Given the description of an element on the screen output the (x, y) to click on. 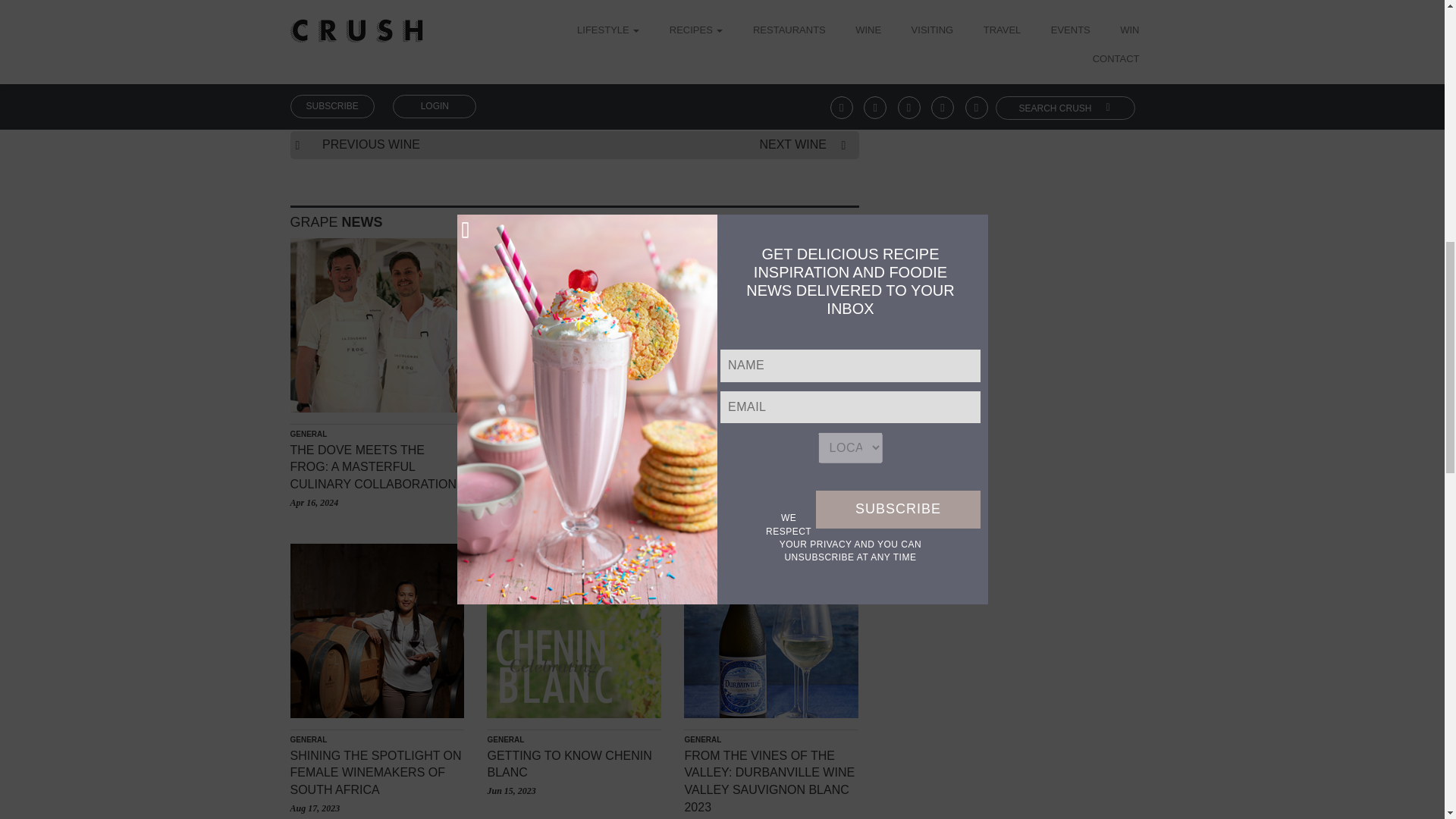
View all posts in General (505, 433)
View all posts in General (307, 739)
View Recipe (351, 37)
View Recipe (500, 37)
View all posts in General (505, 739)
View All Recipes (335, 222)
View all posts in General (702, 739)
View all posts in General (702, 433)
View all posts in General (307, 433)
